Given the description of an element on the screen output the (x, y) to click on. 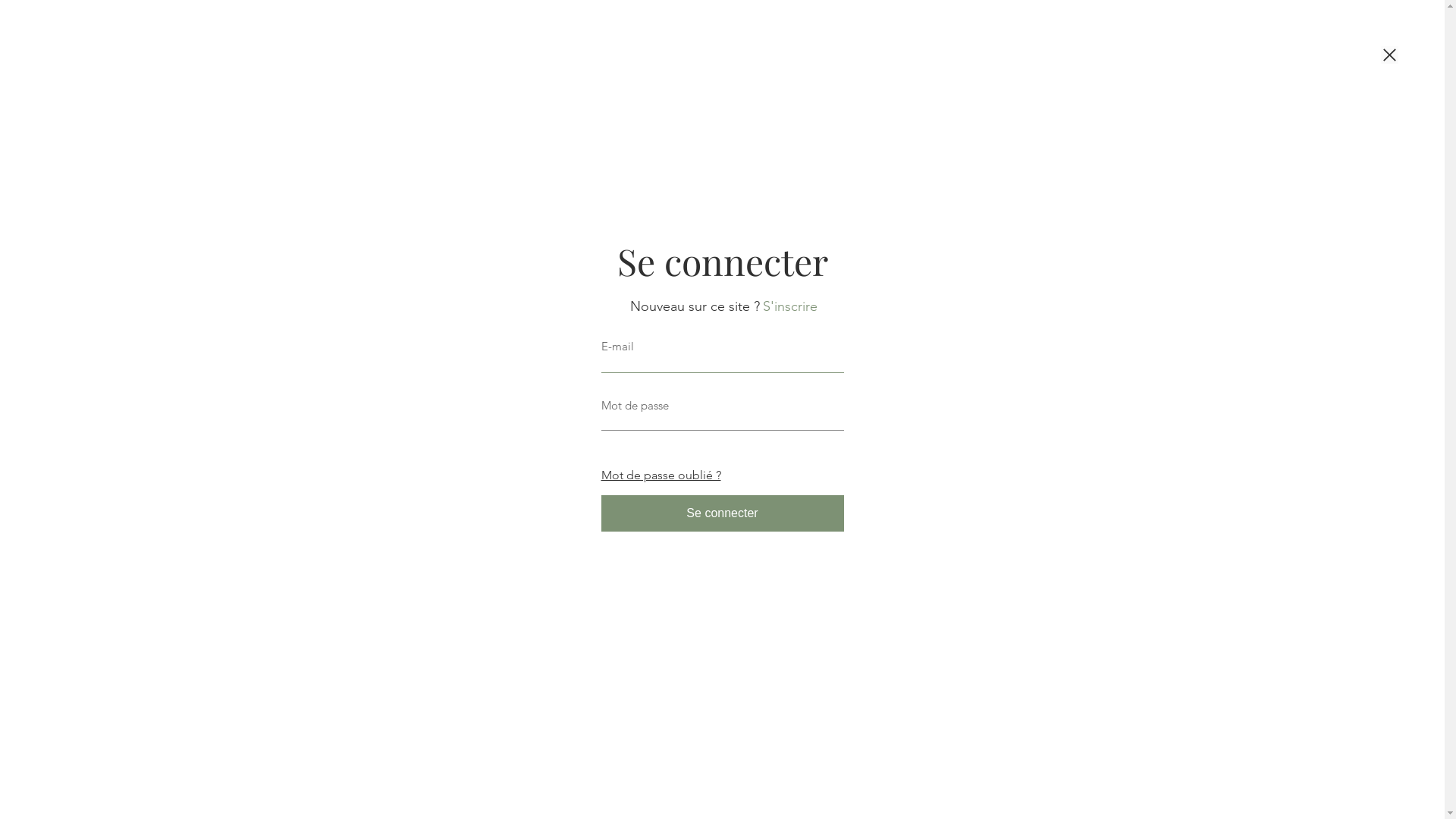
S'inscrire Element type: text (789, 306)
Se connecter Element type: text (721, 513)
